Given the description of an element on the screen output the (x, y) to click on. 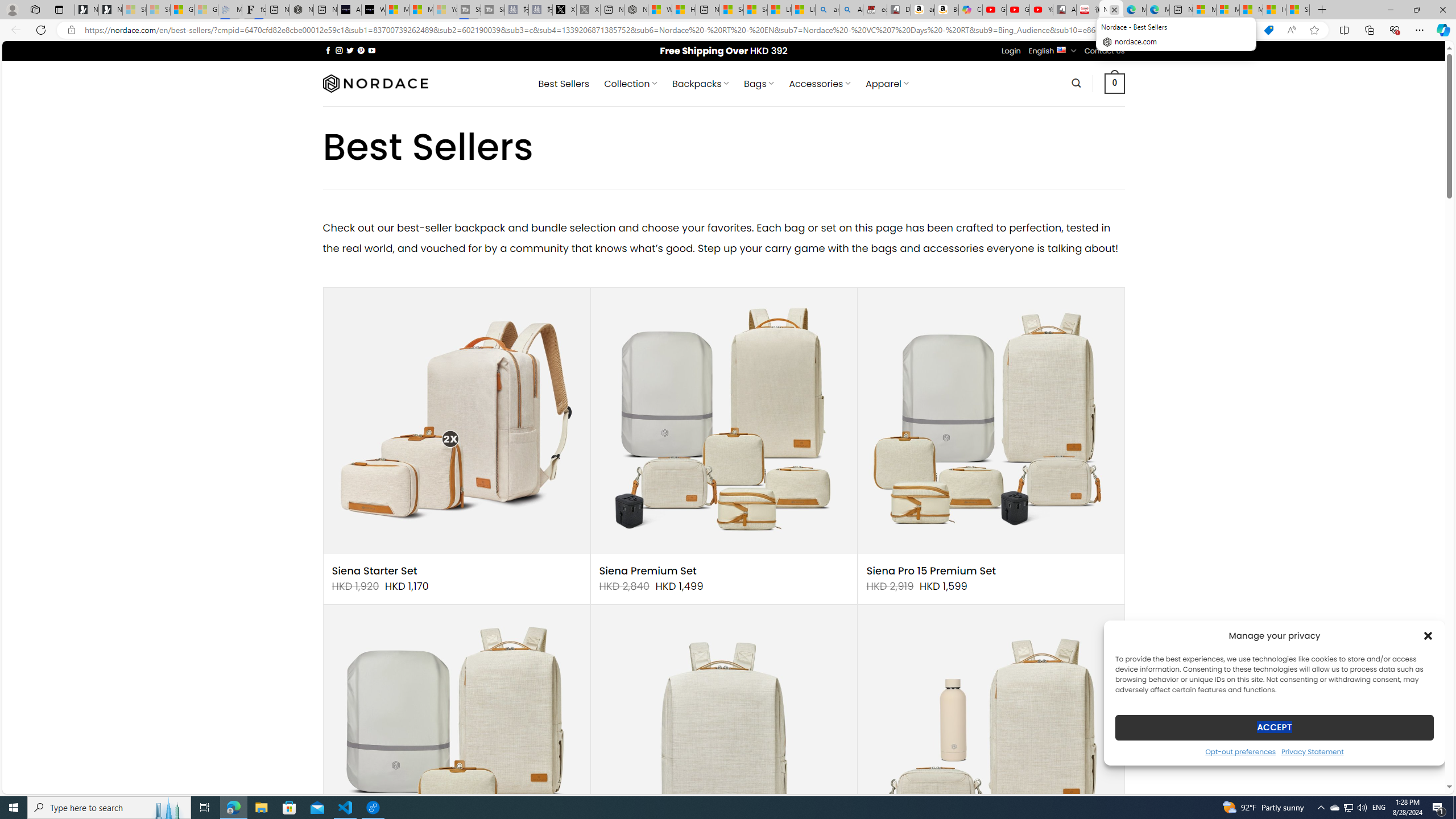
Microsoft Start (1251, 9)
 0  (1115, 83)
Collections (1369, 29)
Settings and more (Alt+F) (1419, 29)
Huge shark washes ashore at New York City beach | Watch (683, 9)
Follow on YouTube (371, 49)
Privacy Statement (1312, 750)
Class: cmplz-close (1428, 635)
Siena Starter Set (374, 571)
I Gained 20 Pounds of Muscle in 30 Days! | Watch (1274, 9)
Nordace (374, 83)
Contact Us (1104, 50)
